Given the description of an element on the screen output the (x, y) to click on. 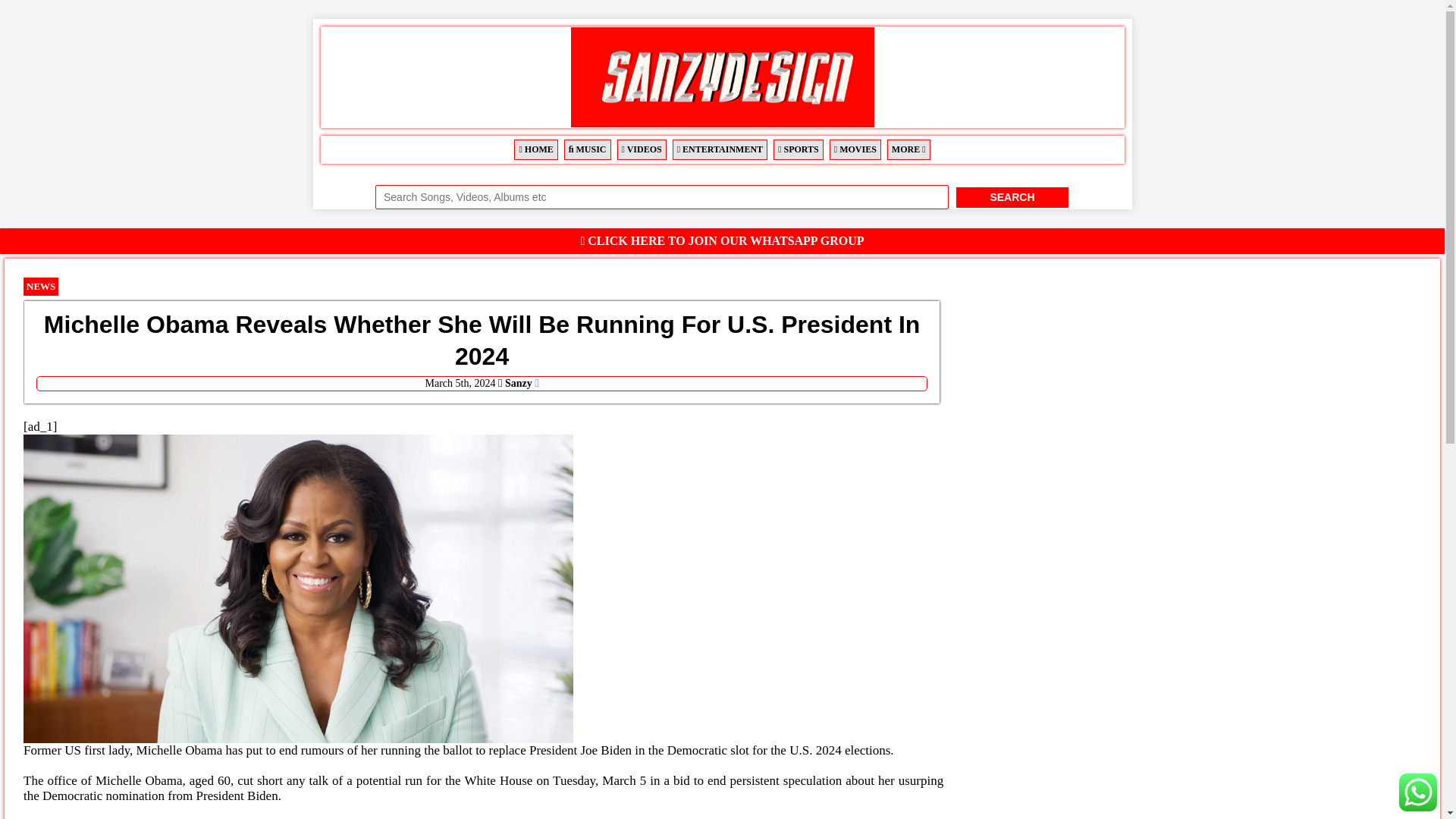
MORE (908, 149)
NEWS (40, 286)
MOVIES (855, 149)
ENTERTAINMENT (719, 149)
Posts by Sanzy (518, 383)
CLICK HERE TO JOIN OUR WHATSAPP GROUP (724, 240)
VIDEOS (641, 149)
Sanzy (518, 383)
MUSIC (588, 149)
NEWS (40, 285)
Search (1011, 197)
SPORTS (797, 149)
Search (1011, 197)
Promote Your Song Now! (1418, 792)
HOME (535, 149)
